Given the description of an element on the screen output the (x, y) to click on. 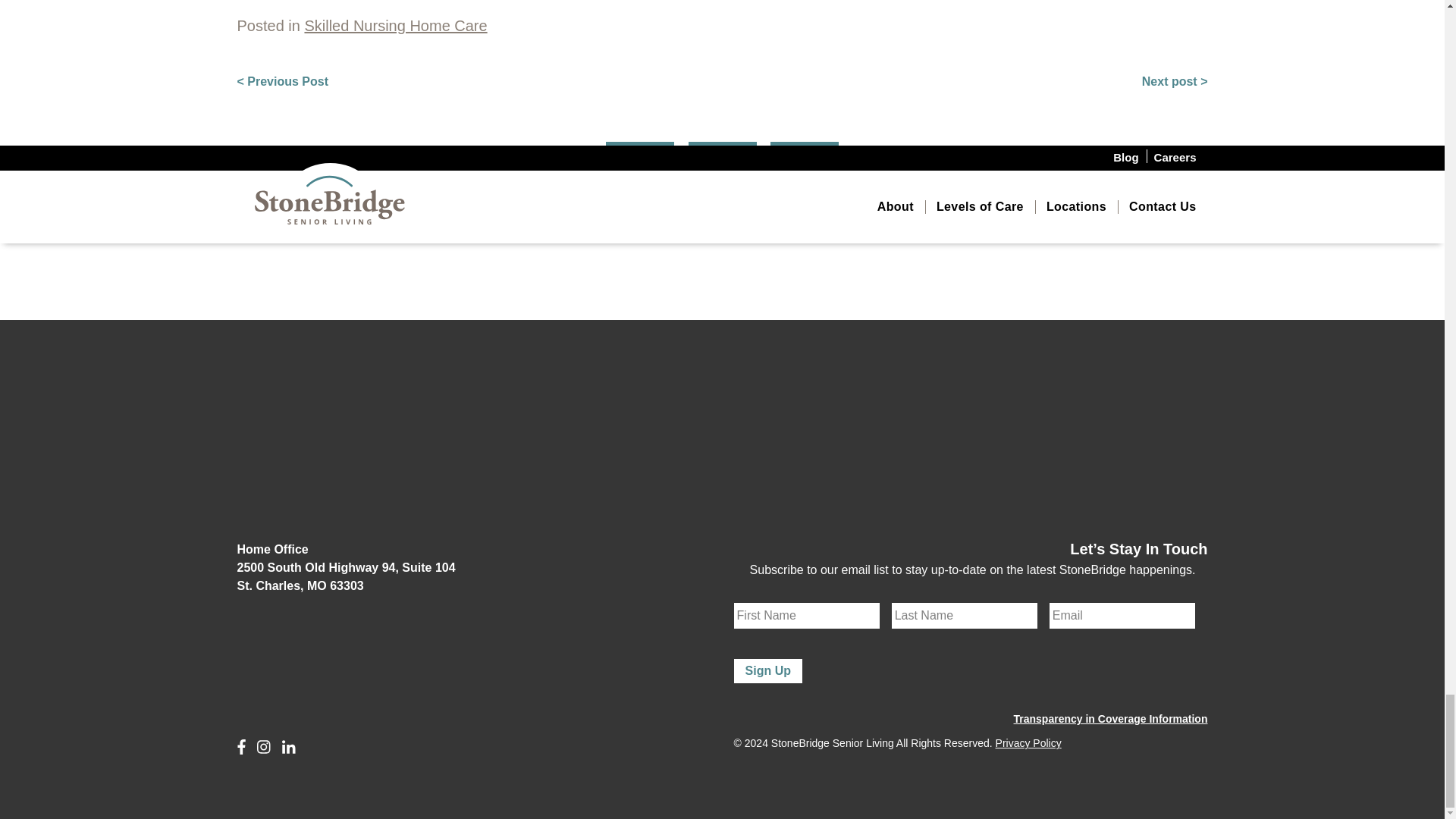
Sign Up (767, 671)
